Given the description of an element on the screen output the (x, y) to click on. 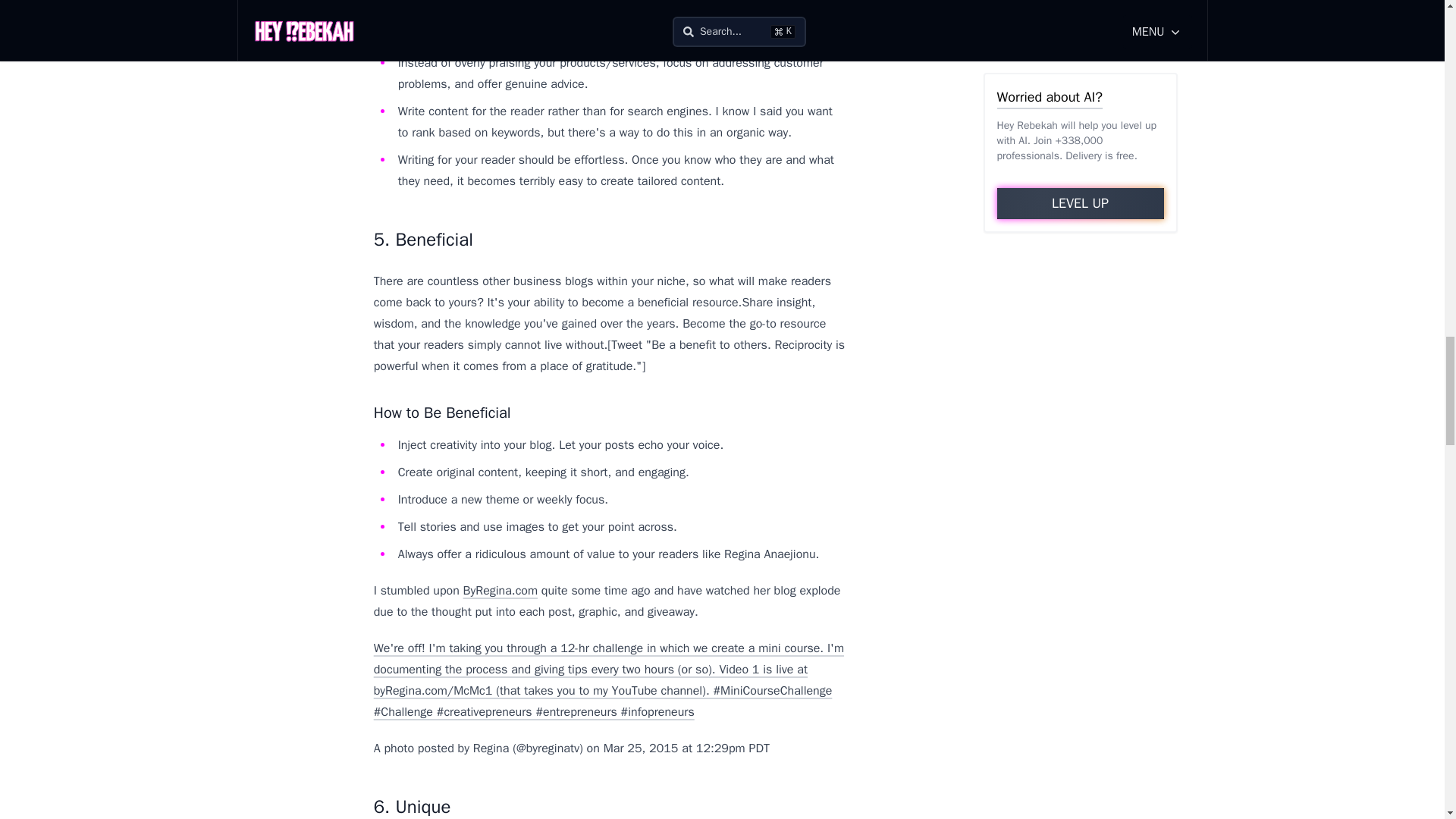
ByRegina.com (500, 590)
